Given the description of an element on the screen output the (x, y) to click on. 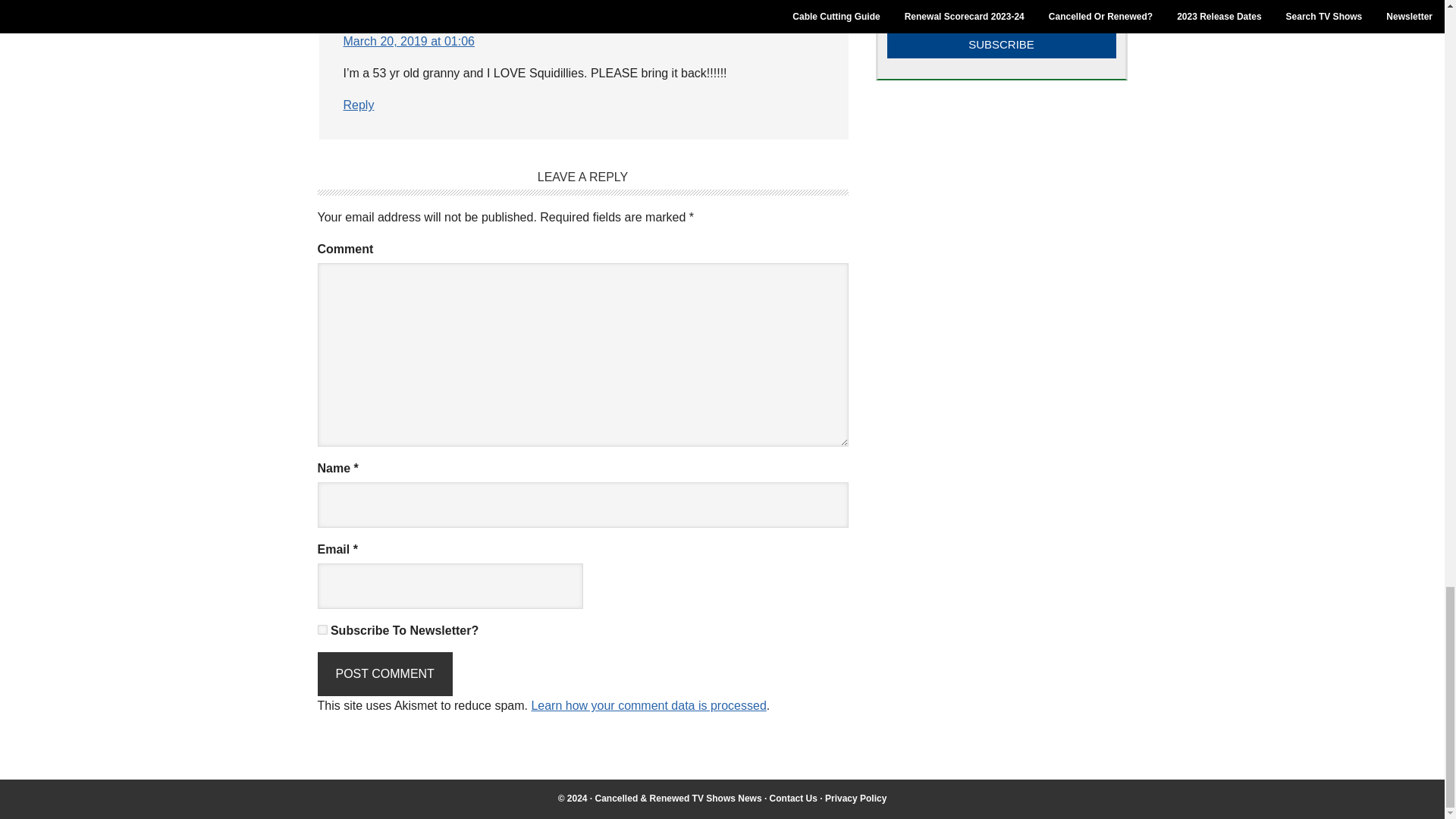
RenewCancelTV (678, 798)
1 (321, 629)
Post Comment (384, 673)
Subscribe (1001, 43)
